Given the description of an element on the screen output the (x, y) to click on. 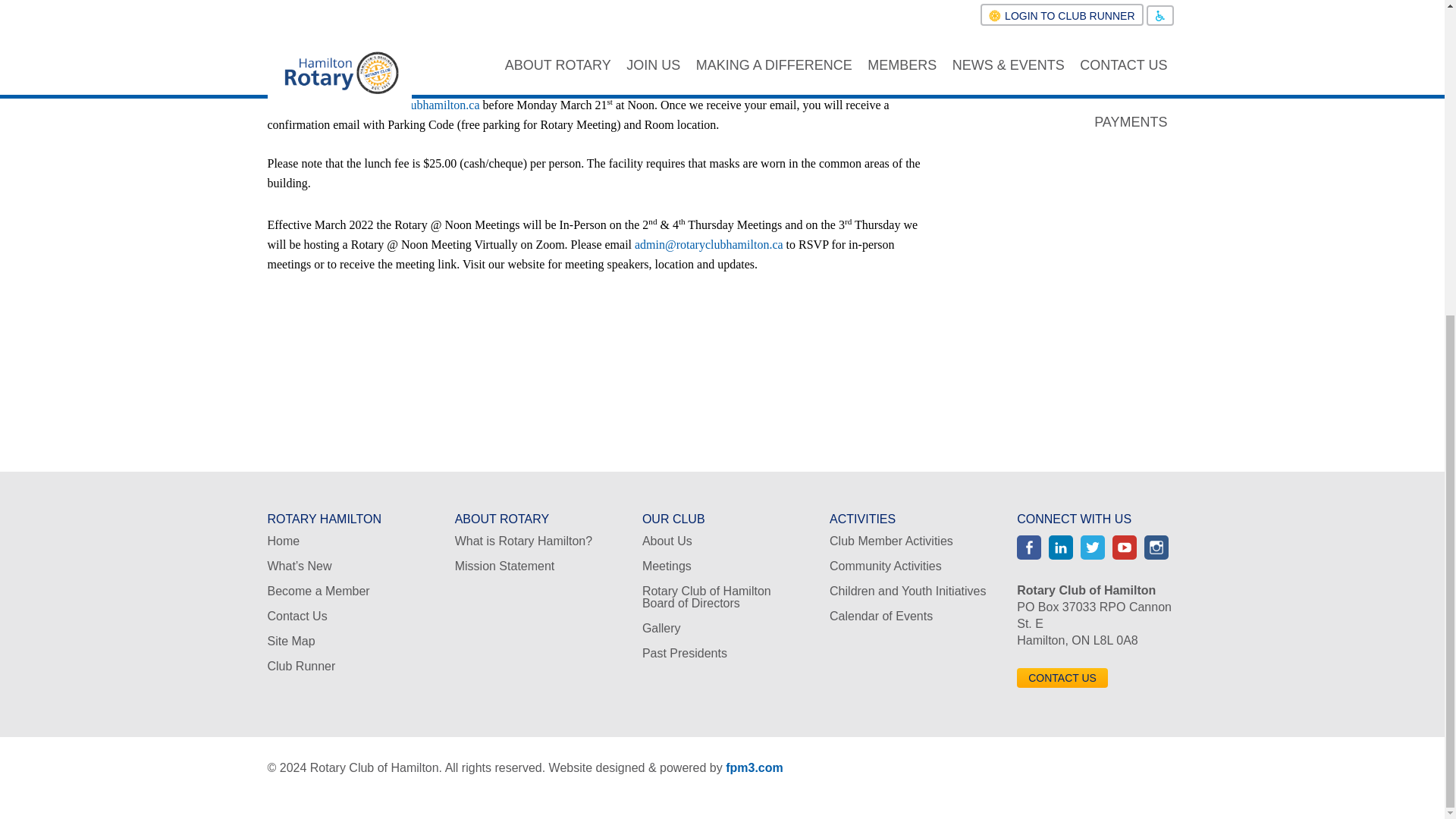
YouTube (1124, 547)
Instagram (1156, 547)
LinkedIn (1060, 547)
Twitter (1092, 547)
Facebook (1028, 547)
